Given the description of an element on the screen output the (x, y) to click on. 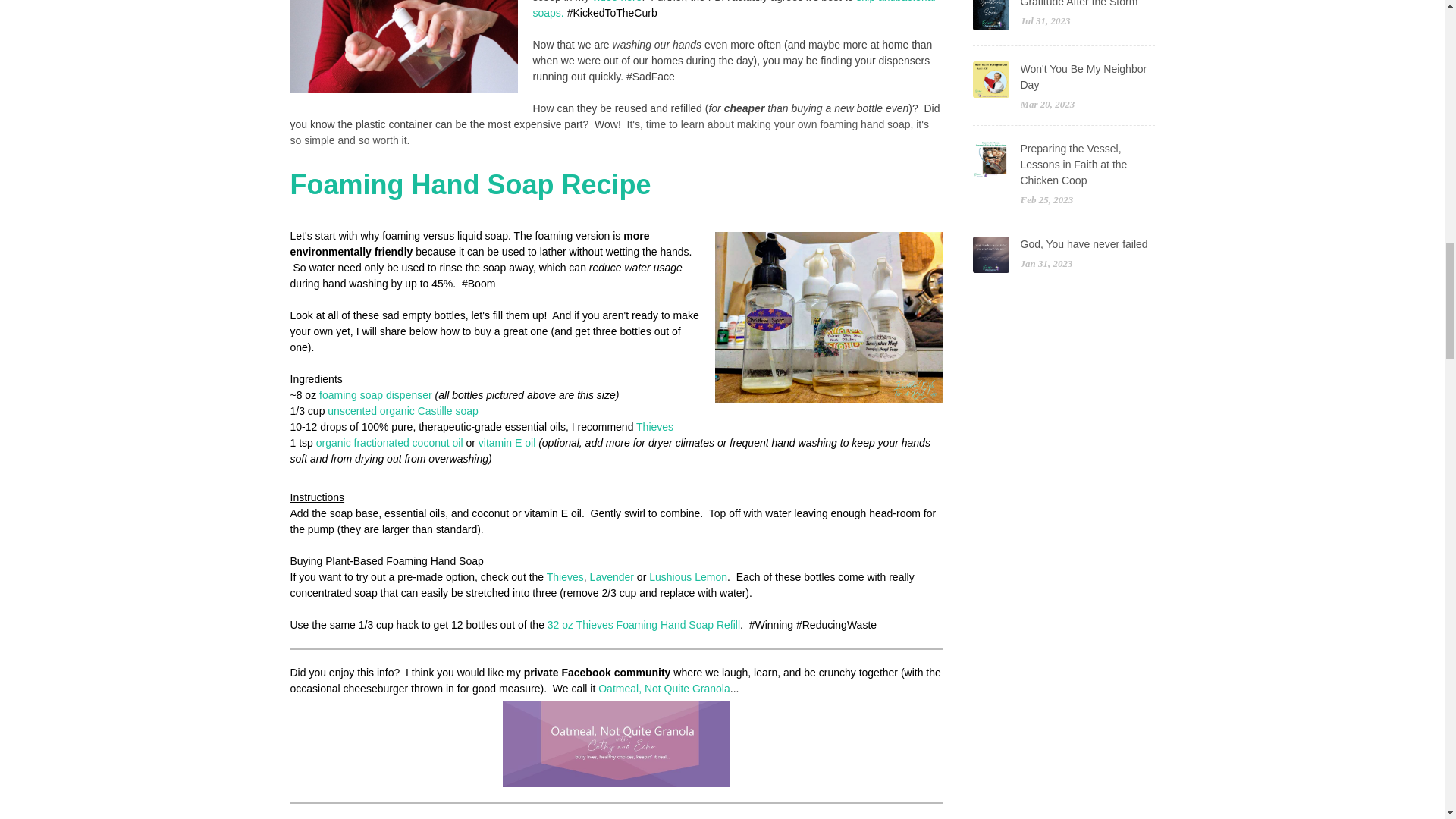
foaming soap dispenser (375, 395)
 video here (615, 1)
organic fractionated coconut oil (389, 442)
skip antibacterial soaps (733, 9)
unscented organic Castille soap (402, 410)
Thieves (654, 426)
